Given the description of an element on the screen output the (x, y) to click on. 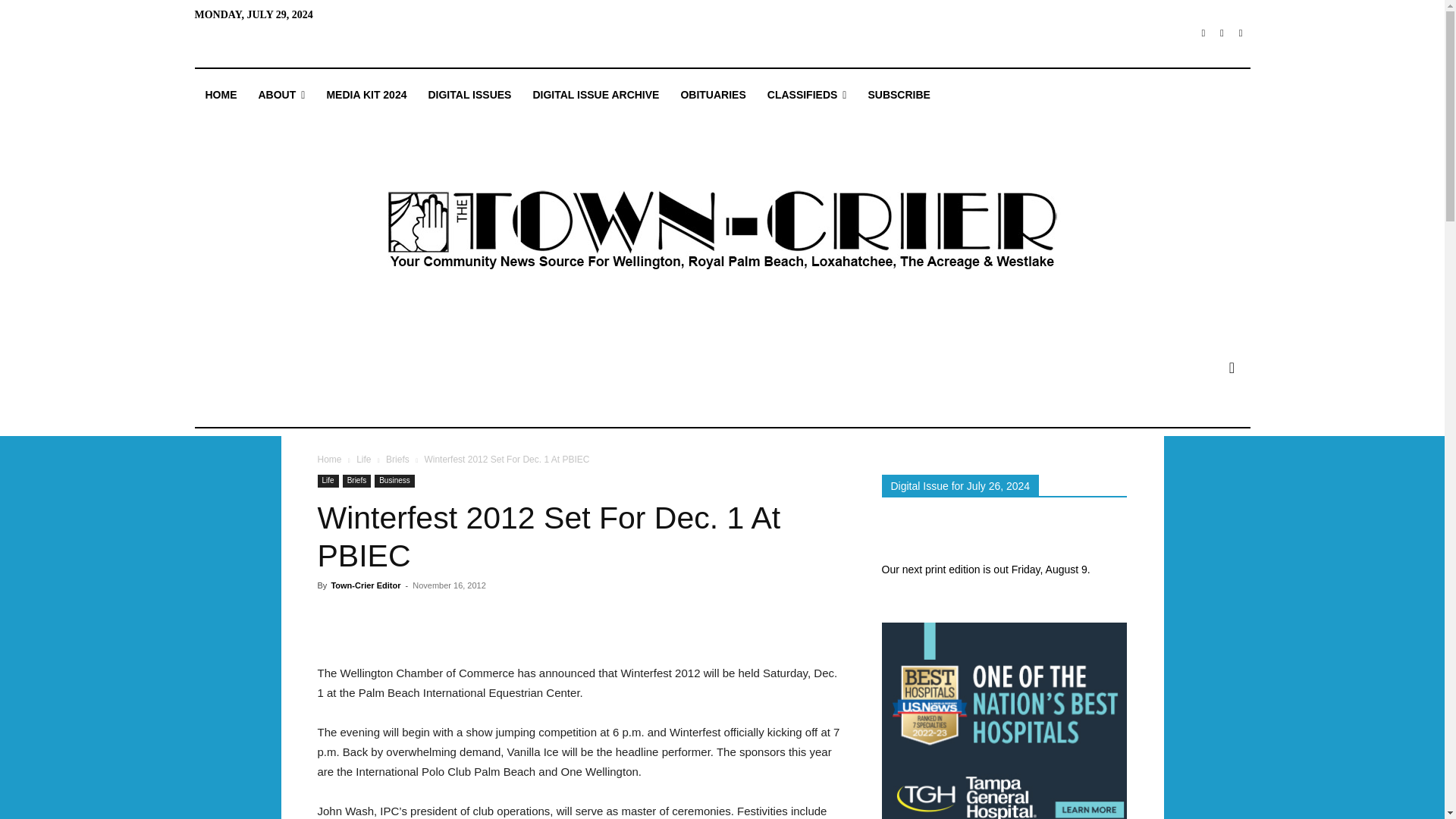
SUBSCRIBE (898, 94)
Instagram (1221, 33)
Town-Crier Newspaper (721, 230)
CLASSIFIEDS (807, 94)
HOME (220, 94)
ABOUT (281, 94)
View all posts in Life (363, 459)
Twitter (1240, 33)
Town-Crier Newspaper (721, 230)
OBITUARIES (712, 94)
Facebook (1202, 33)
View all posts in Briefs (397, 459)
DIGITAL ISSUES (468, 94)
MEDIA KIT 2024 (365, 94)
DIGITAL ISSUE ARCHIVE (595, 94)
